Given the description of an element on the screen output the (x, y) to click on. 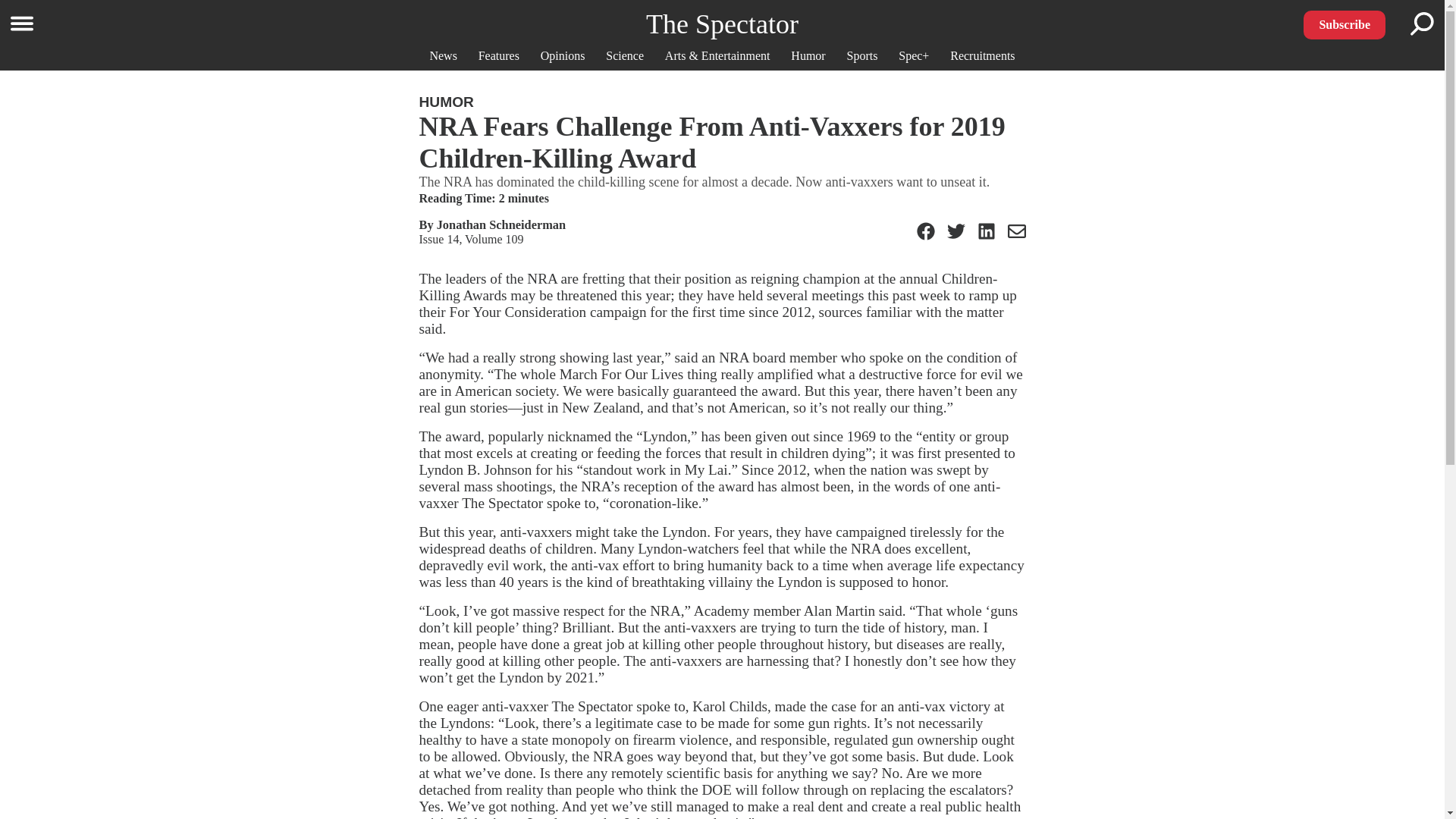
News (443, 55)
Opinions (562, 55)
Features (499, 55)
The Spectator (721, 24)
Subscribe (1344, 24)
Sports (862, 55)
Science (624, 55)
Recruitments (982, 55)
Humor (807, 55)
